Given the description of an element on the screen output the (x, y) to click on. 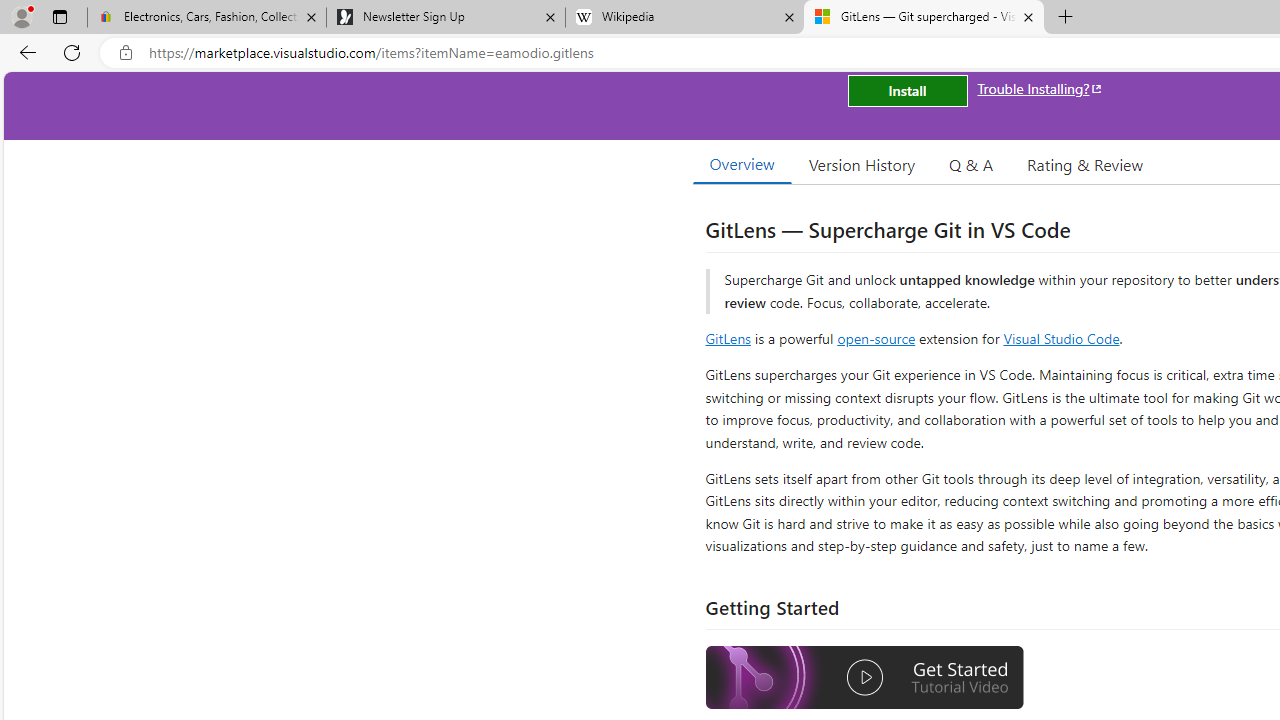
GitLens (728, 337)
Q & A (971, 164)
Watch the GitLens Getting Started video (865, 678)
